Given the description of an element on the screen output the (x, y) to click on. 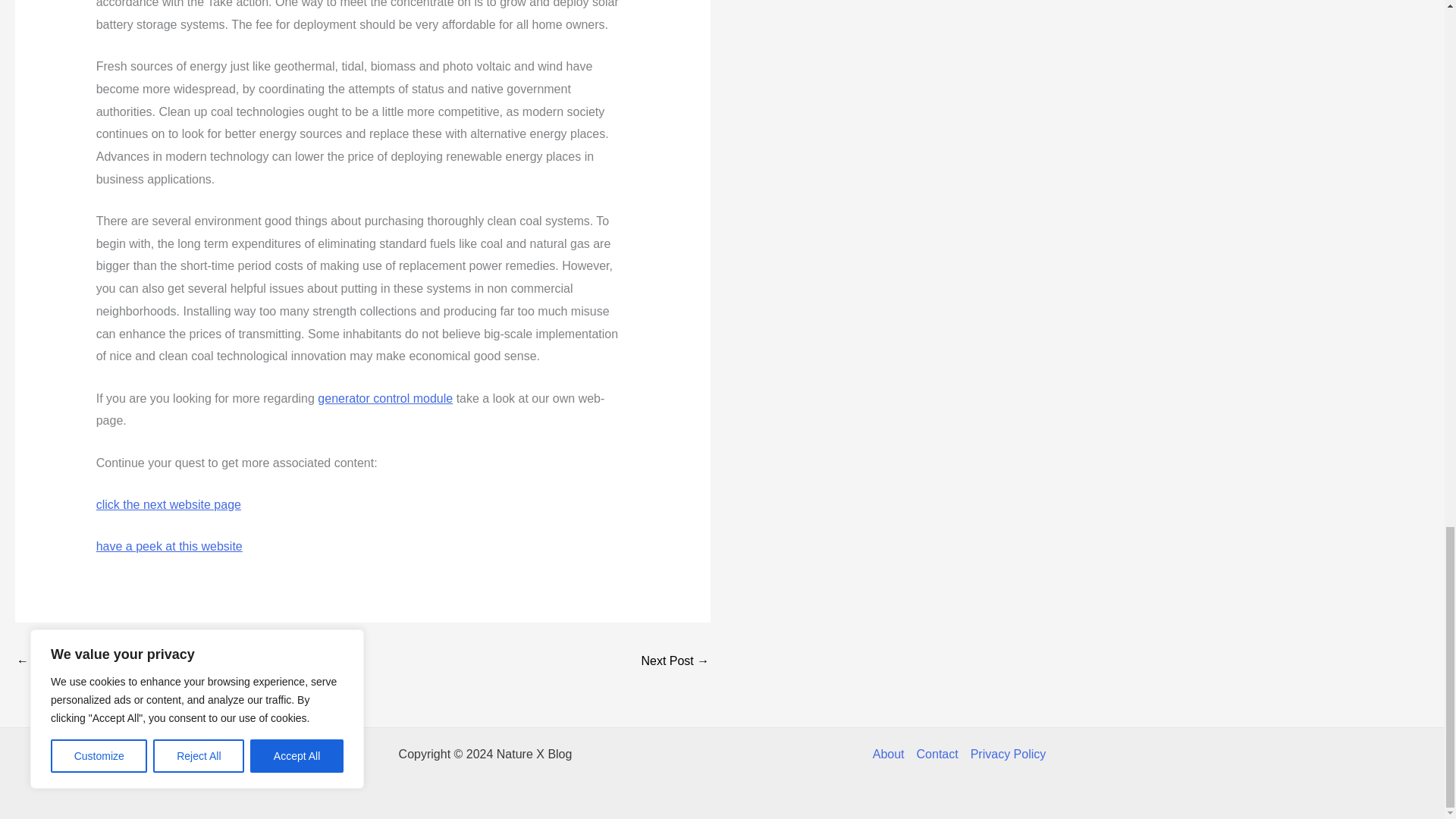
generator control module (384, 398)
What Is a Party Organizer? (61, 662)
have a peek at this website (169, 545)
click the next website page (168, 504)
